Given the description of an element on the screen output the (x, y) to click on. 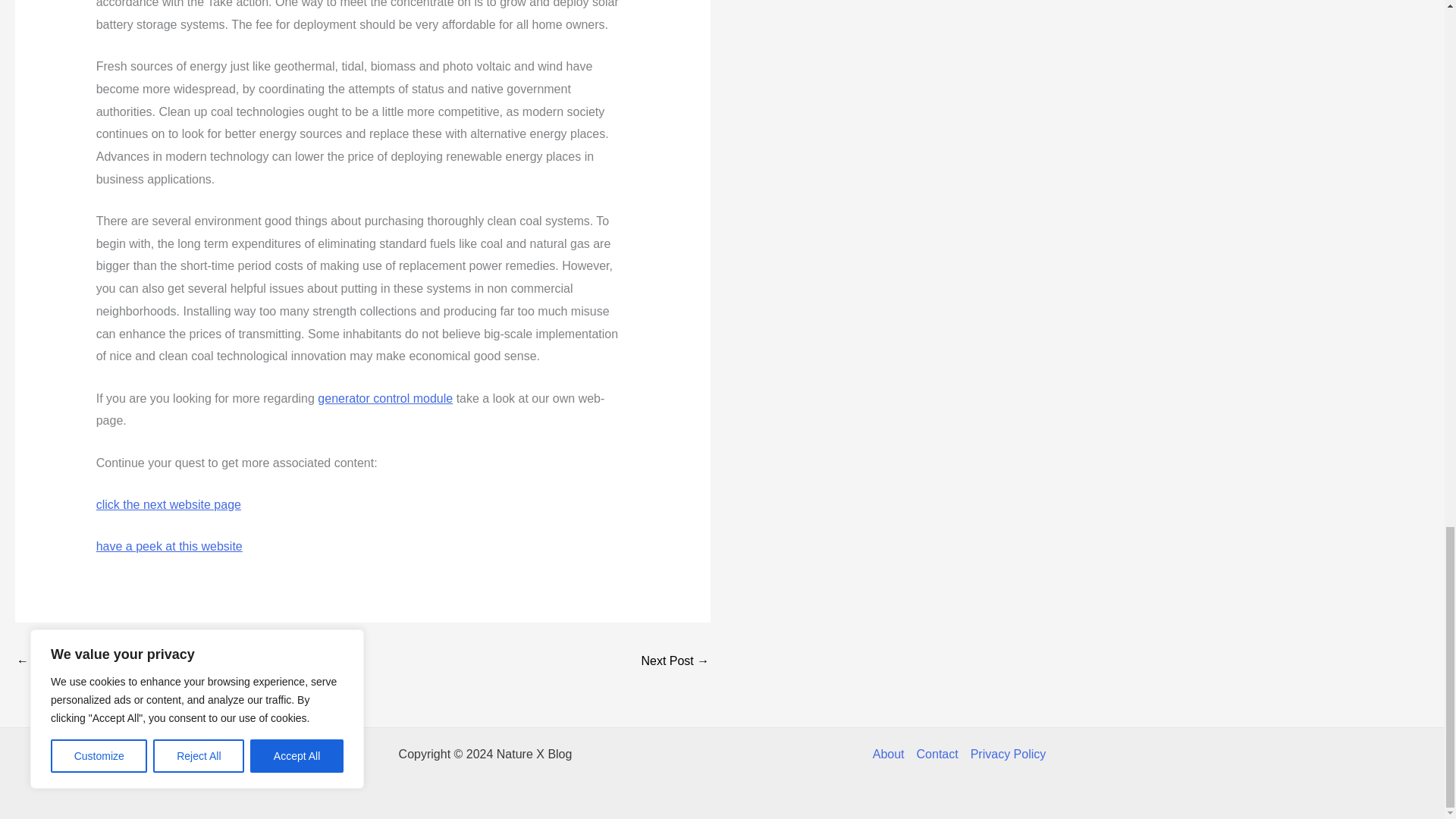
generator control module (384, 398)
What Is a Party Organizer? (61, 662)
have a peek at this website (169, 545)
click the next website page (168, 504)
